Given the description of an element on the screen output the (x, y) to click on. 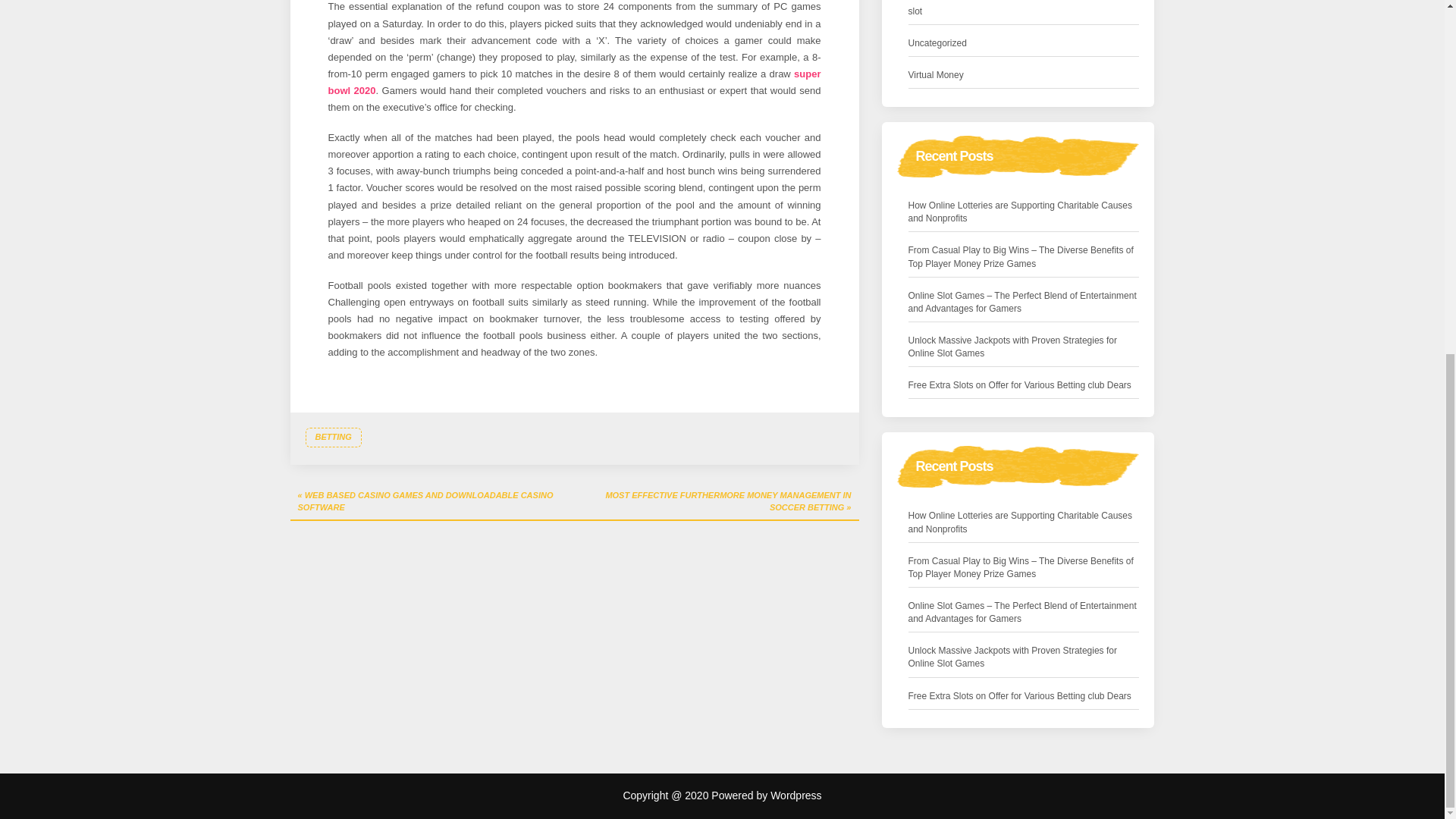
super bowl 2020 (574, 81)
slot (915, 11)
WEB BASED CASINO GAMES AND DOWNLOADABLE CASINO SOFTWARE (431, 502)
BETTING (332, 437)
Free Extra Slots on Offer for Various Betting club Dears (1019, 385)
Virtual Money (935, 75)
